Given the description of an element on the screen output the (x, y) to click on. 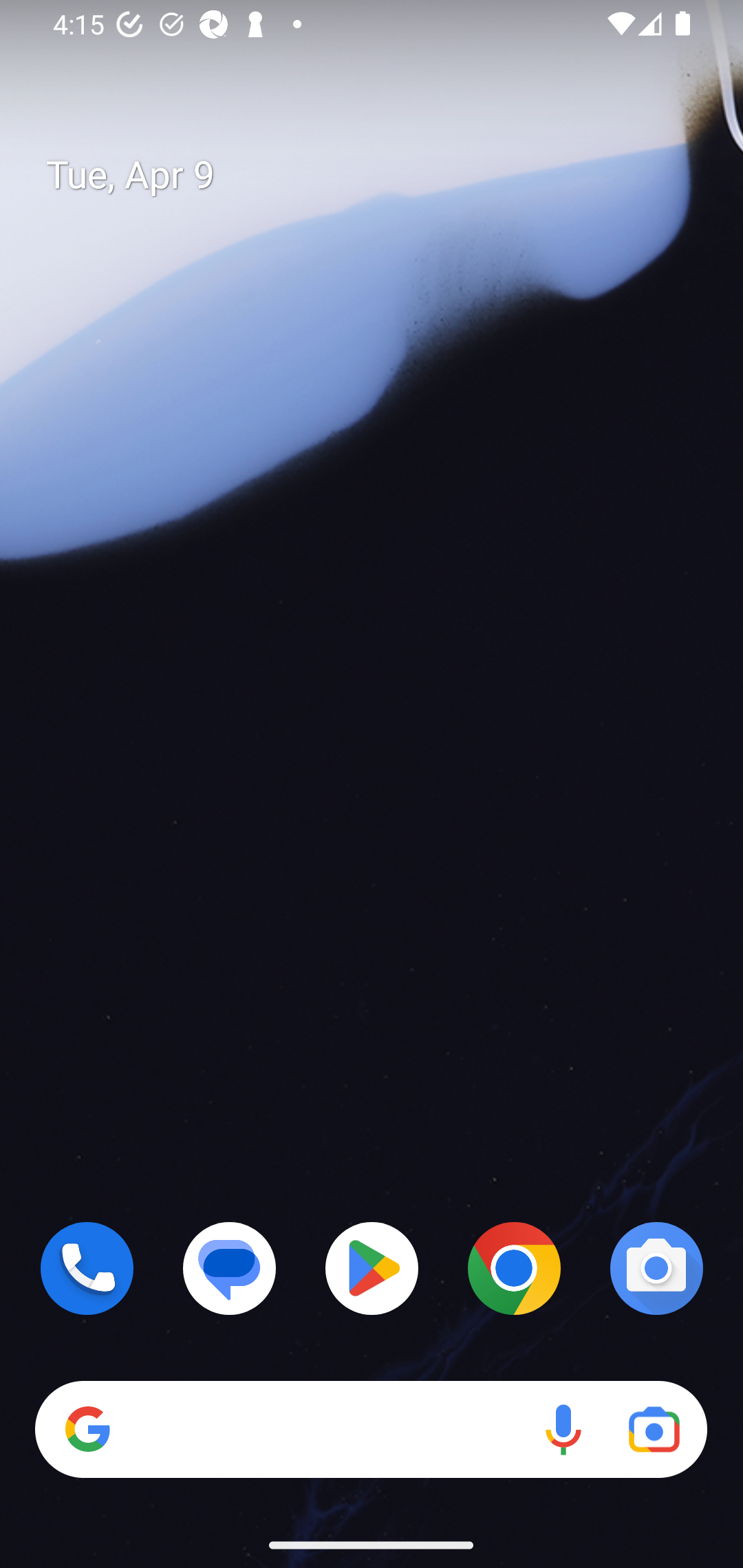
Tue, Apr 9 (386, 175)
Phone (86, 1268)
Messages (229, 1268)
Play Store (371, 1268)
Chrome (513, 1268)
Camera (656, 1268)
Voice search (562, 1429)
Google Lens (653, 1429)
